Given the description of an element on the screen output the (x, y) to click on. 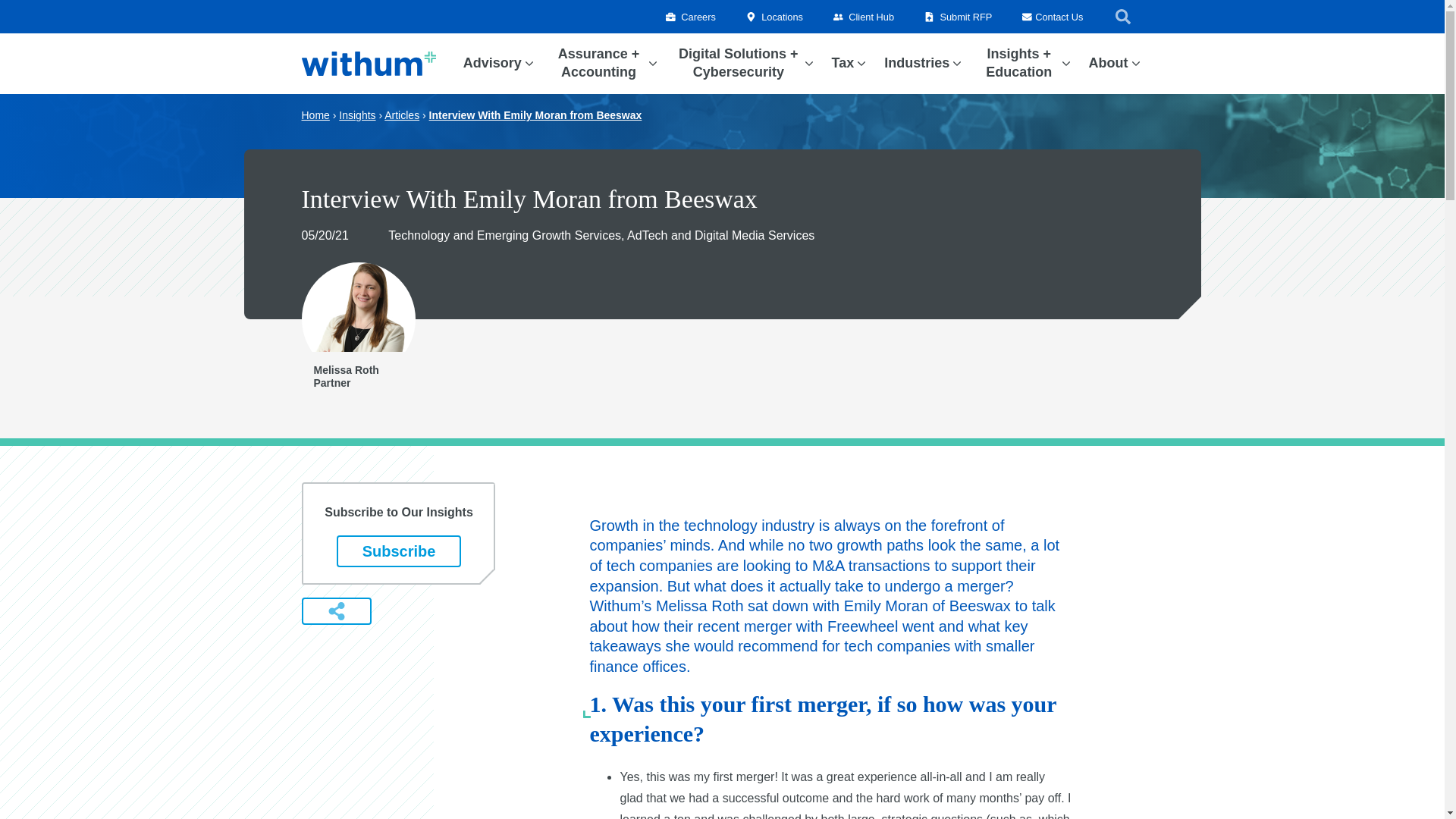
Withum (368, 63)
Submit RFP (957, 16)
Search (1122, 16)
Advisory (492, 63)
Client Hub (862, 16)
Careers (690, 16)
Locations (774, 16)
Contact Us (1052, 16)
